Given the description of an element on the screen output the (x, y) to click on. 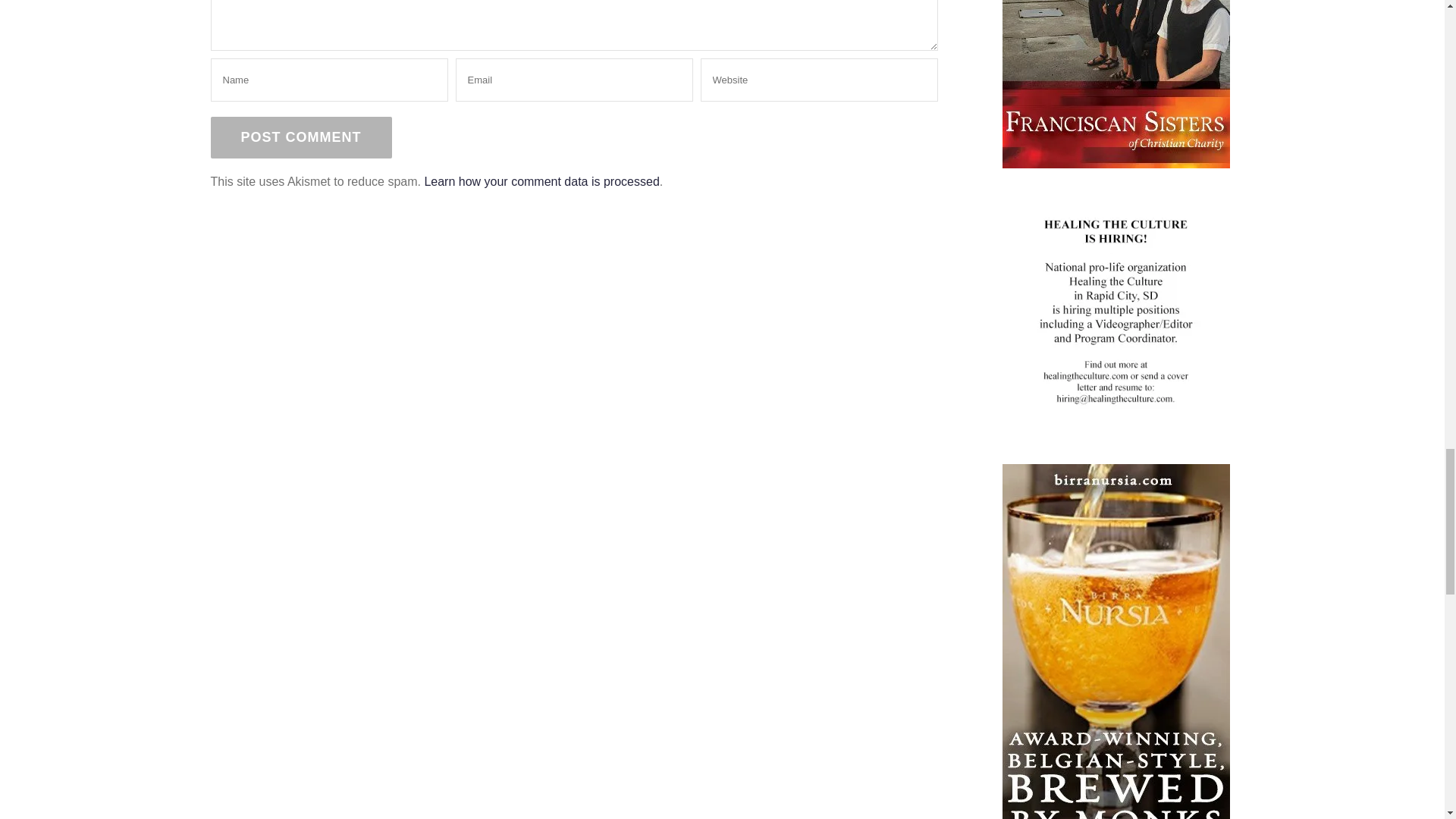
Post Comment (301, 137)
